Given the description of an element on the screen output the (x, y) to click on. 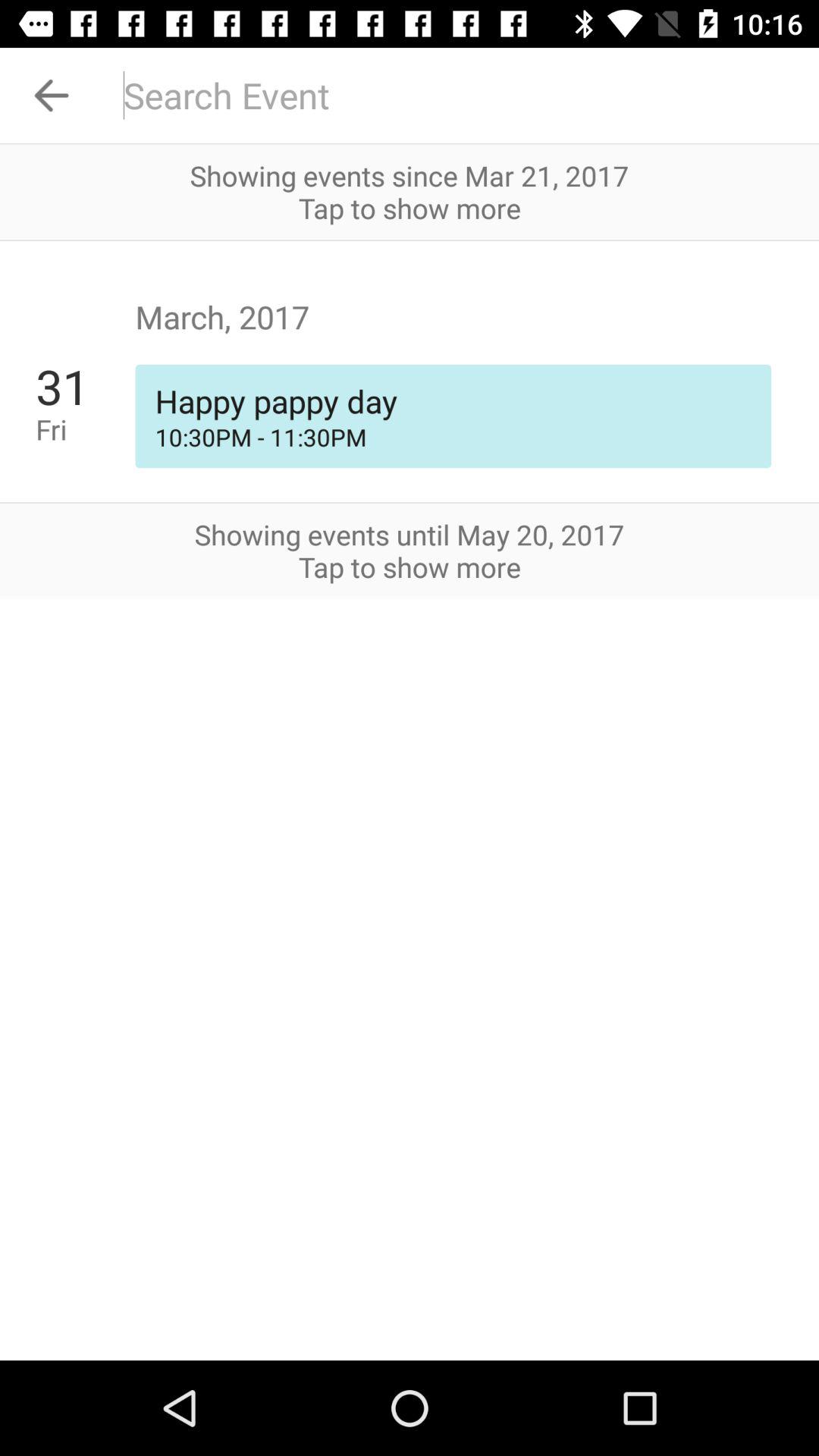
select the item below the happy pappy day item (453, 436)
